Given the description of an element on the screen output the (x, y) to click on. 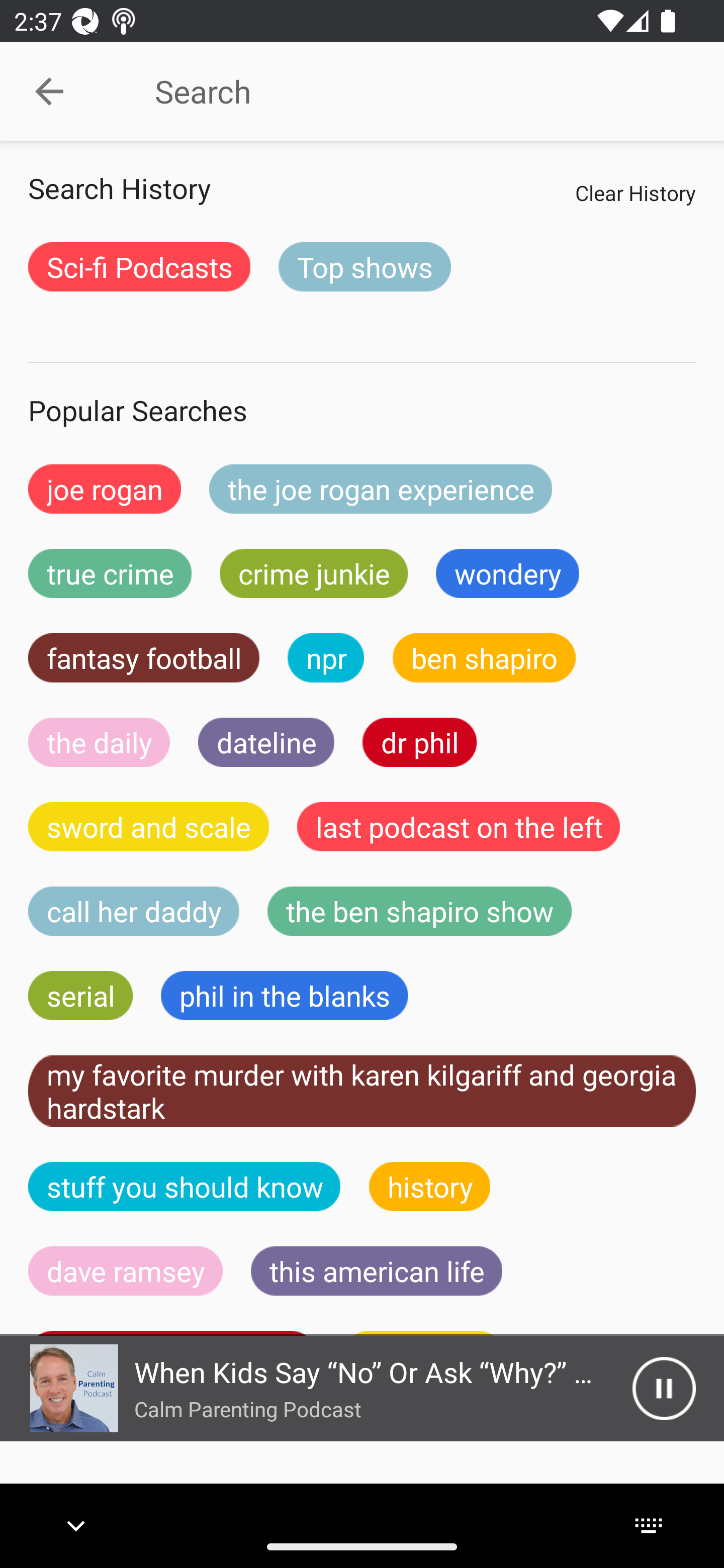
Collapse (49, 91)
Search (407, 91)
Clear History (634, 192)
Sci-fi Podcasts (139, 266)
Top shows (364, 266)
joe rogan (104, 489)
the joe rogan experience (380, 489)
true crime (109, 572)
crime junkie (313, 572)
wondery (507, 572)
fantasy football (143, 657)
npr (325, 657)
ben shapiro (483, 657)
the daily (99, 742)
dateline (266, 742)
dr phil (419, 742)
sword and scale (148, 826)
last podcast on the left (458, 826)
call her daddy (133, 910)
the ben shapiro show (419, 910)
serial (80, 995)
phil in the blanks (283, 995)
stuff you should know (184, 1185)
history (429, 1185)
dave ramsey (125, 1270)
this american life (376, 1270)
Pause (663, 1388)
